Given the description of an element on the screen output the (x, y) to click on. 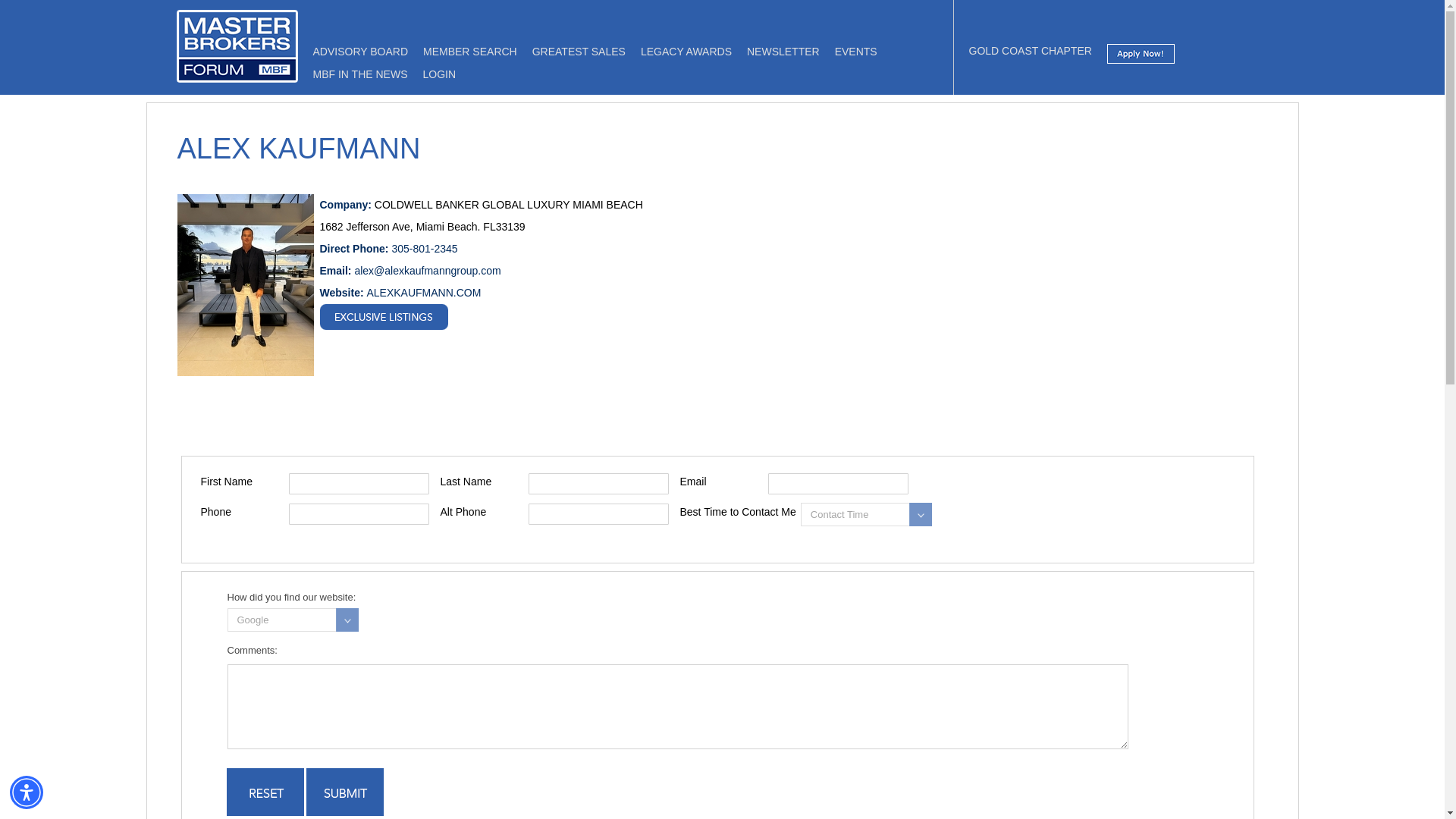
Gold Coast Chapter of the Master Broker Forum (1030, 50)
Newsletter (782, 51)
MBF IN THE NEWS (360, 73)
Login (438, 73)
Legacy Awards (686, 51)
MEMBER SEARCH (469, 51)
GREATEST SALES (579, 51)
LEGACY AWARDS (686, 51)
Events (855, 51)
Membership Application (1140, 59)
Press (360, 73)
EVENTS (855, 51)
Advisory Board (360, 51)
305-801-2345 (424, 248)
ADVISORY BOARD (360, 51)
